Given the description of an element on the screen output the (x, y) to click on. 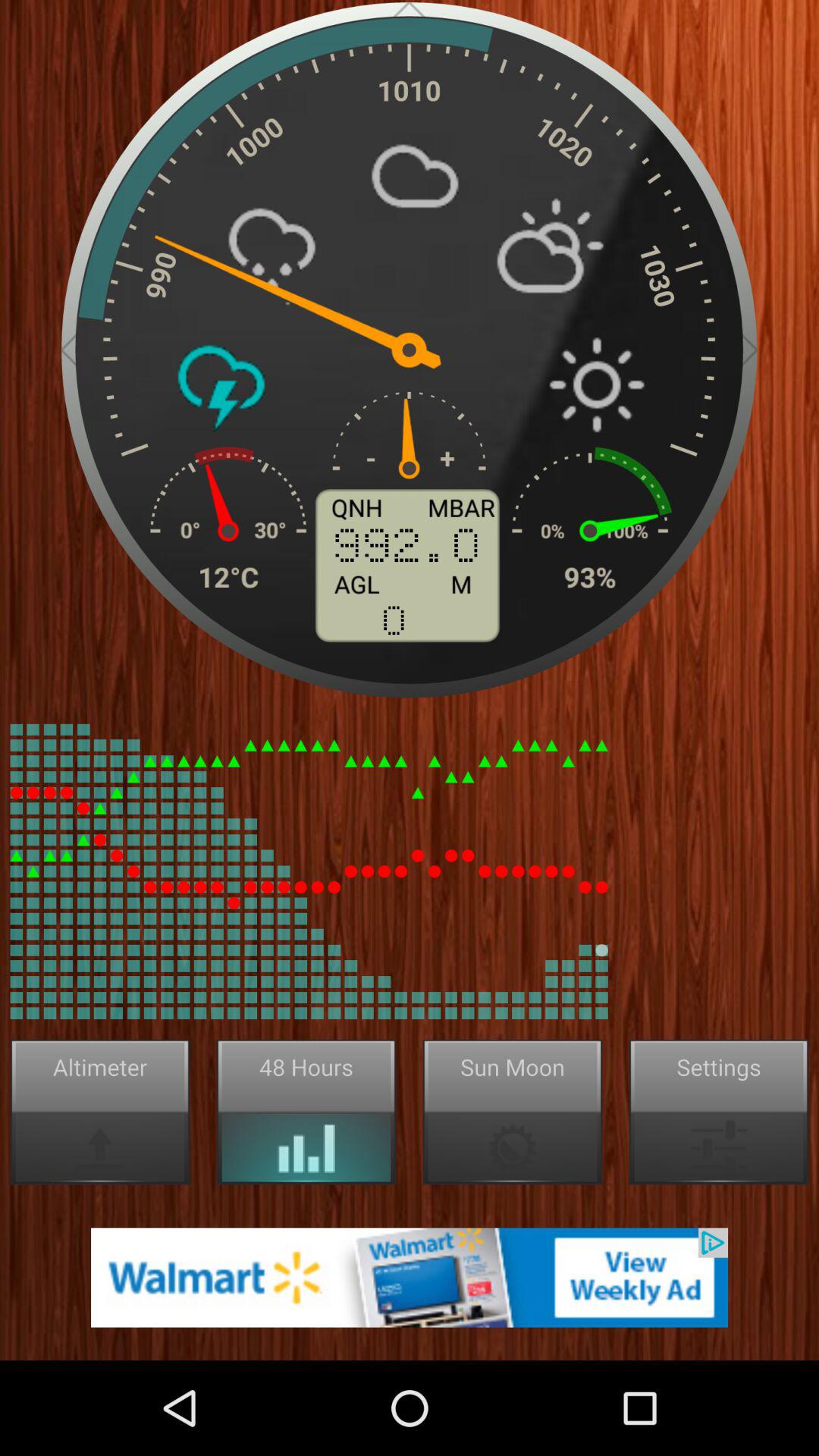
go to advertisement (409, 1277)
